Given the description of an element on the screen output the (x, y) to click on. 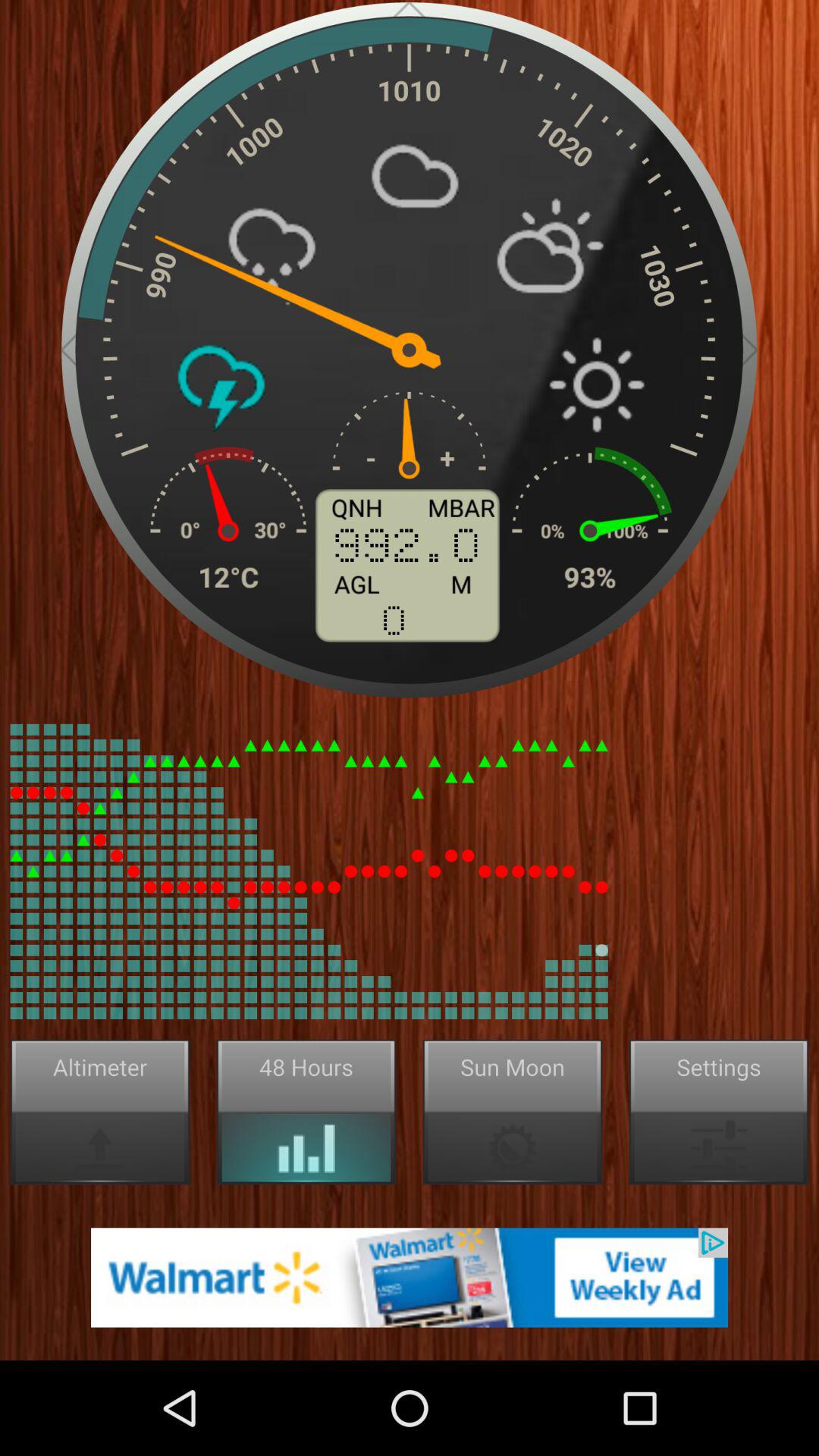
advertisement page (409, 1277)
